Given the description of an element on the screen output the (x, y) to click on. 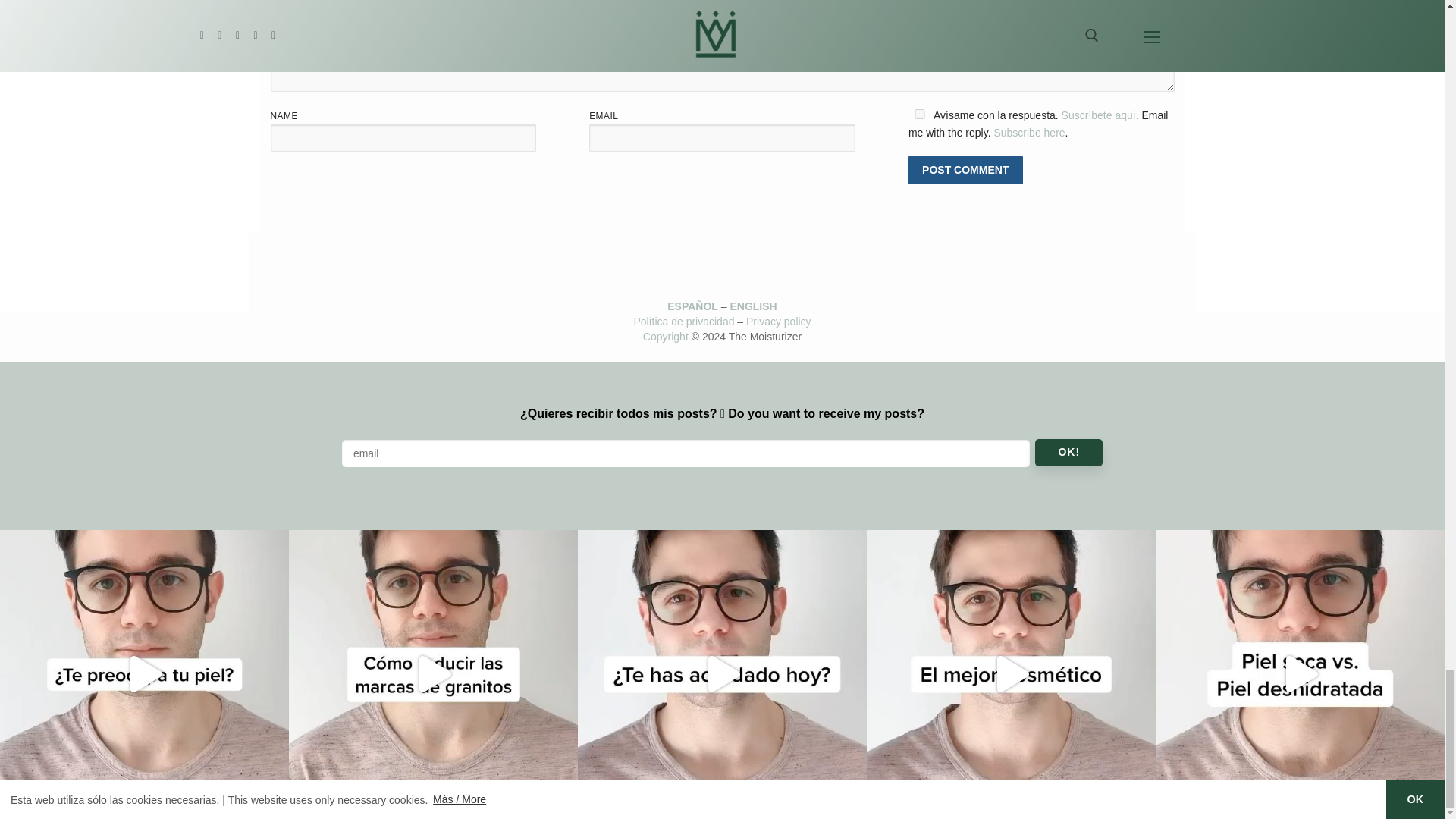
OK! (1068, 452)
Post Comment (965, 169)
Facebook (749, 272)
Contacto (667, 272)
TikTok (721, 272)
yes (919, 113)
Instagram (694, 272)
